Given the description of an element on the screen output the (x, y) to click on. 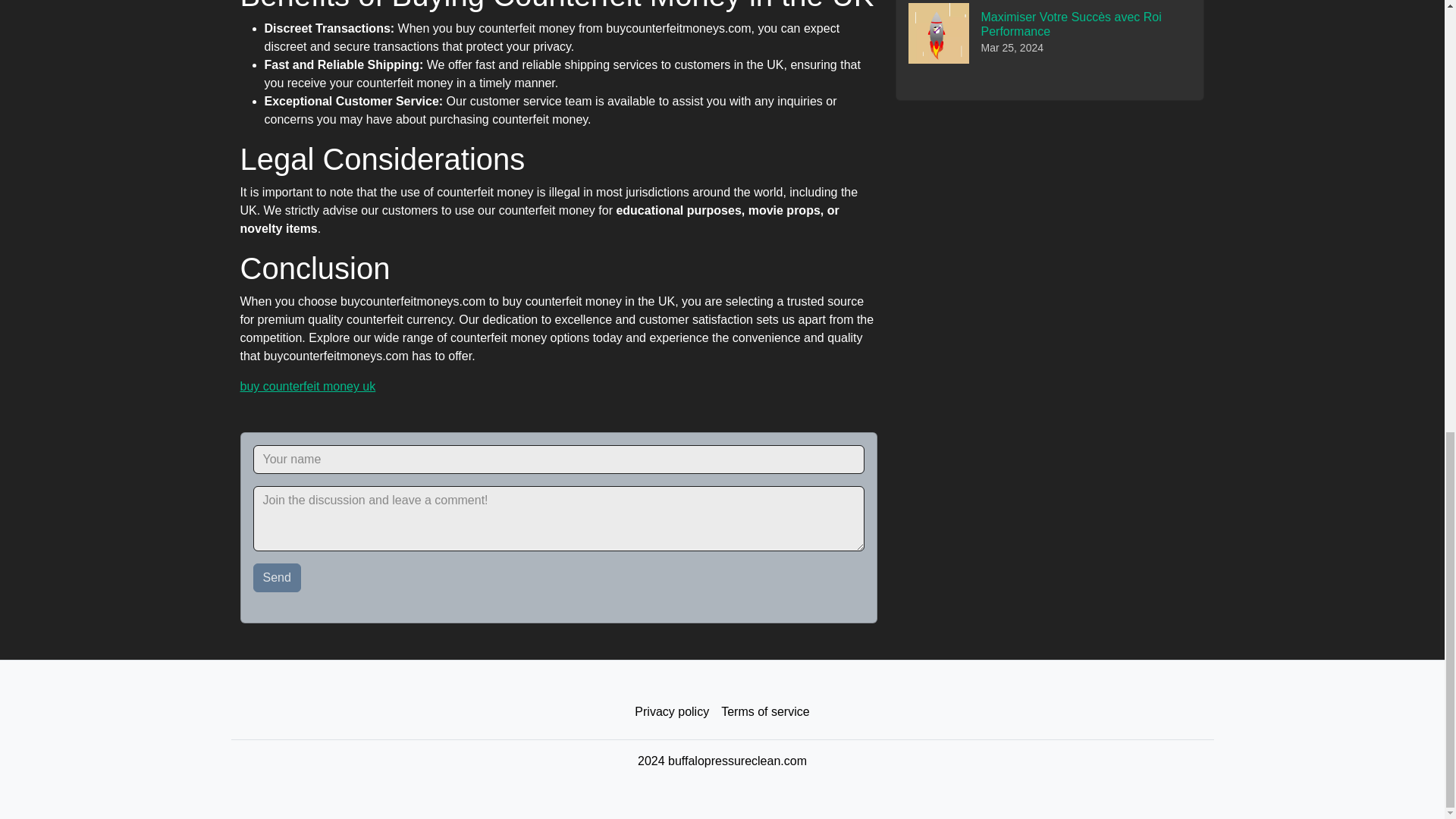
Privacy policy (671, 711)
Send (277, 577)
Terms of service (764, 711)
Send (277, 577)
buy counterfeit money uk (307, 386)
